Given the description of an element on the screen output the (x, y) to click on. 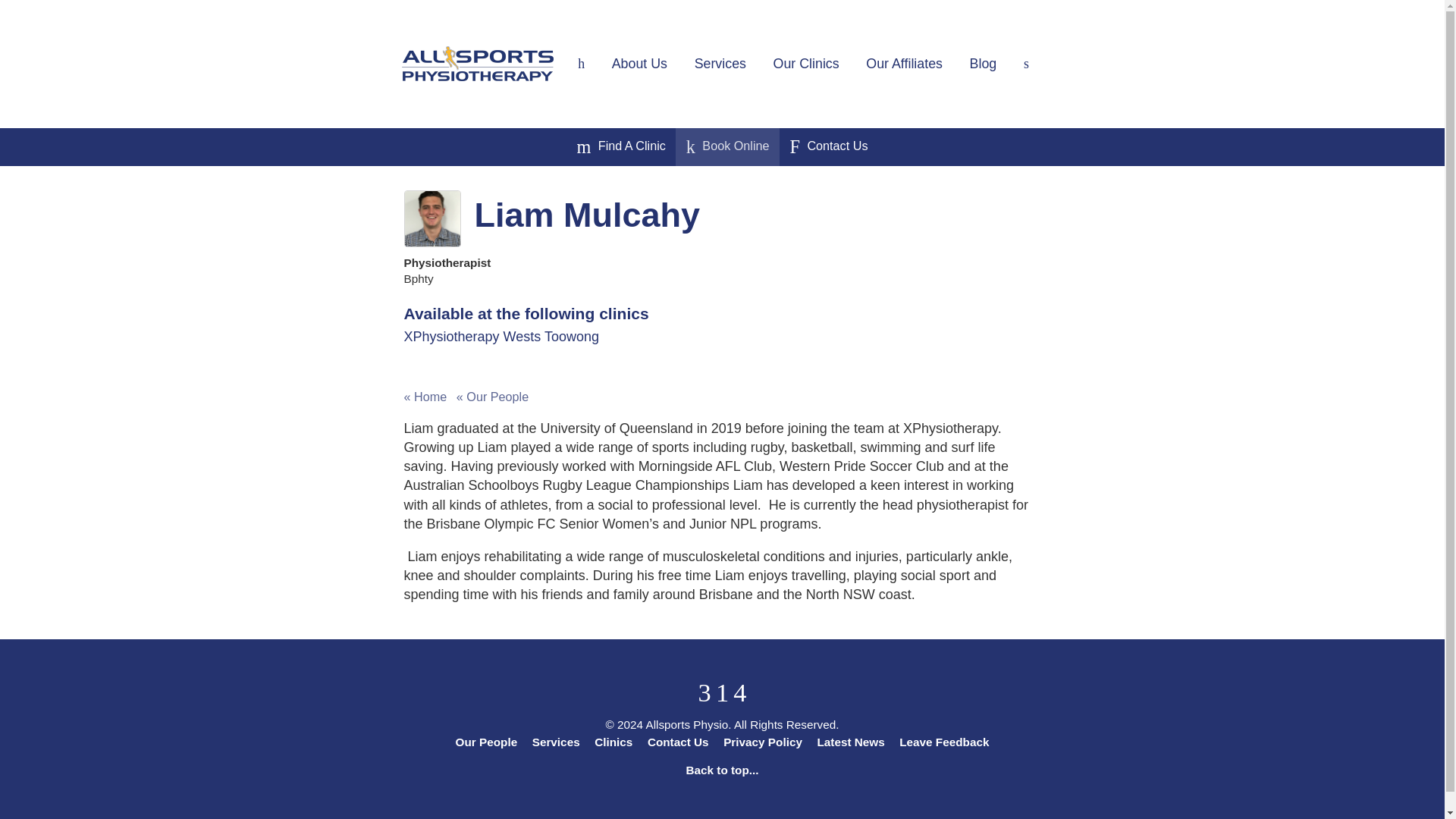
Services (720, 63)
Find A Clinic (620, 146)
h (581, 63)
Book Online (727, 146)
About Us (639, 63)
Contact Us (828, 146)
Liam Mulcahy - Physiotherapist (431, 218)
Home (581, 63)
